Given the description of an element on the screen output the (x, y) to click on. 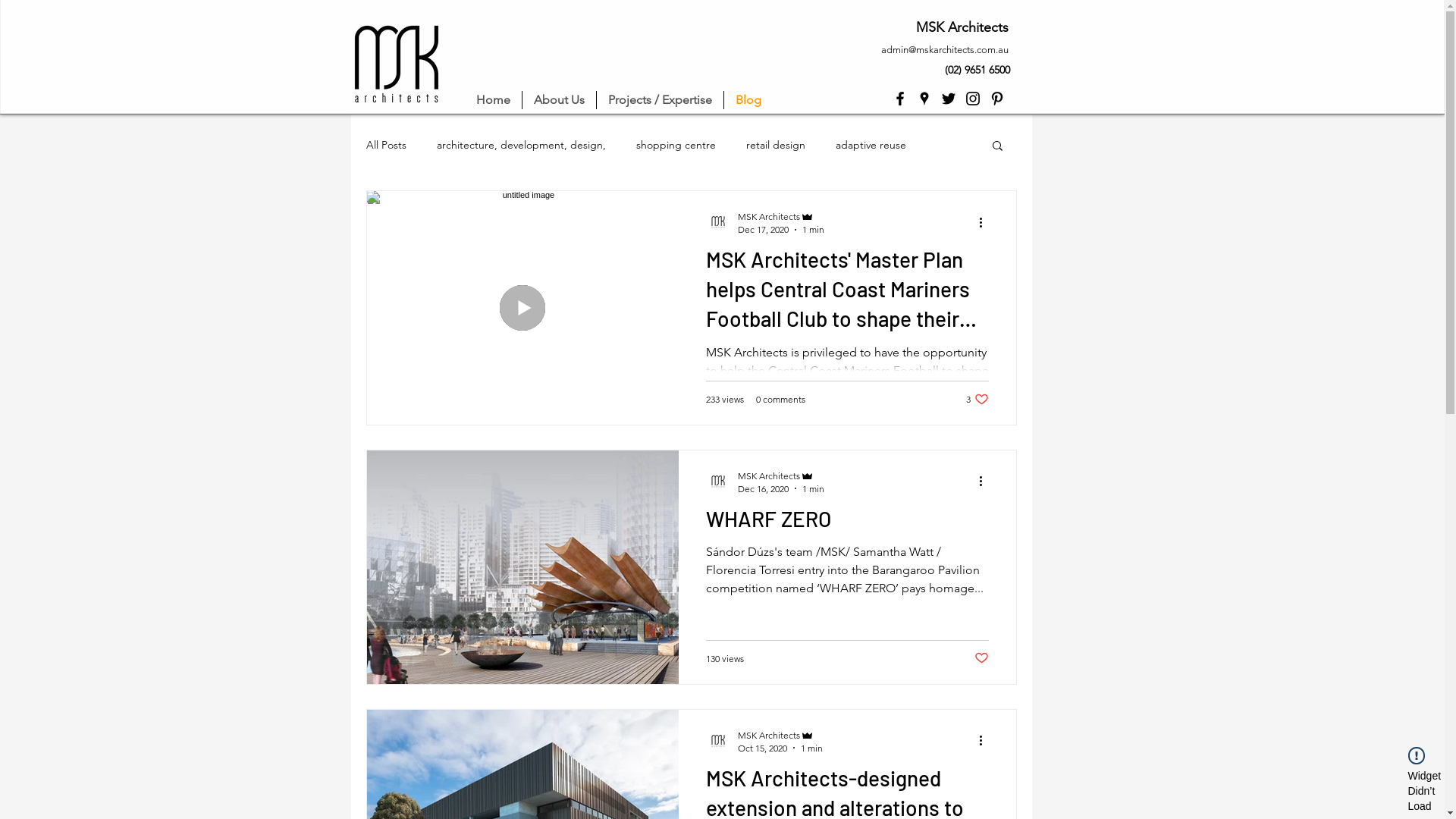
shopping centre Element type: text (675, 144)
MSK Architects Element type: text (780, 475)
Blog Element type: text (747, 100)
WHARF ZERO Element type: text (846, 522)
3 likes. Post not marked as liked
3 Element type: text (977, 399)
adaptive reuse Element type: text (870, 144)
All Posts Element type: text (385, 144)
retail design Element type: text (775, 144)
Projects / Expertise Element type: text (659, 100)
Home Element type: text (492, 100)
admin@mskarchitects.com.au Element type: text (944, 49)
MSK Architects Element type: text (780, 216)
Post not marked as liked Element type: text (980, 658)
architecture, development, design, Element type: text (520, 144)
About Us Element type: text (558, 100)
0 comments Element type: text (779, 398)
MSK Architects Element type: text (779, 735)
